Given the description of an element on the screen output the (x, y) to click on. 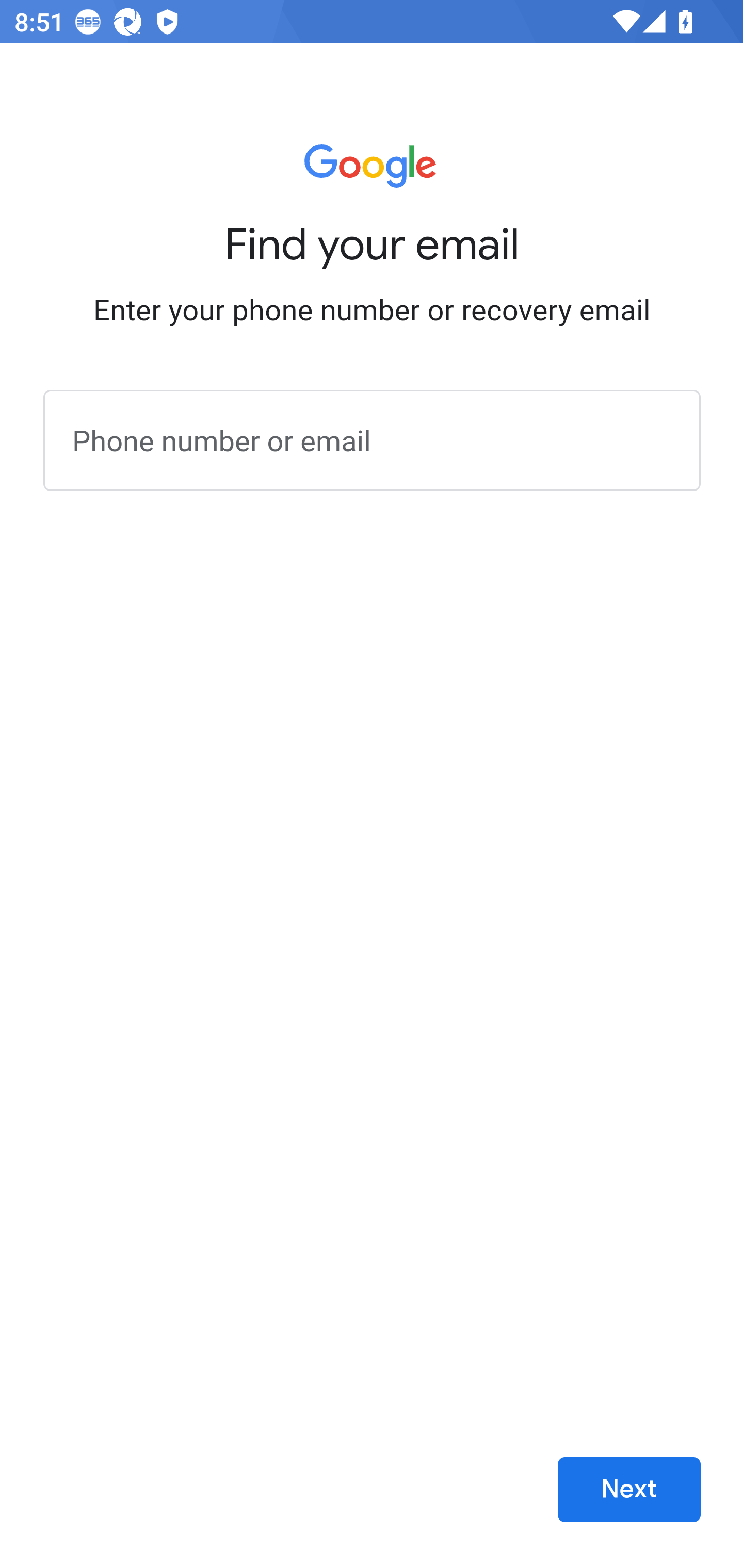
Next (629, 1490)
